Given the description of an element on the screen output the (x, y) to click on. 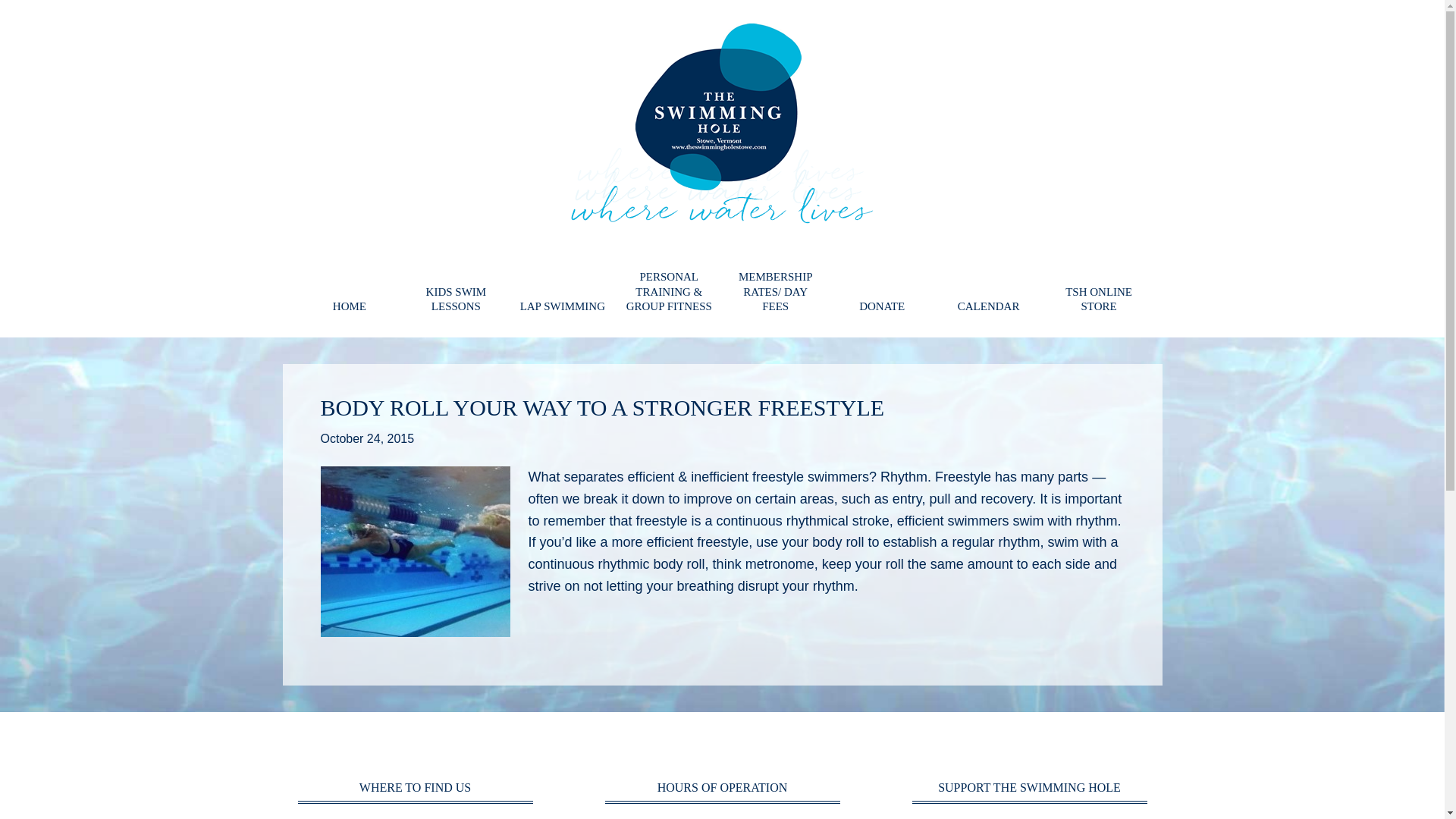
HOME (349, 310)
KIDS SWIM LESSONS (455, 303)
TSH ONLINE STORE (1095, 303)
DONATE (881, 310)
BODY ROLL YOUR WAY TO A STRONGER FREESTYLE (601, 406)
The Swimming Hole (722, 123)
CALENDAR (989, 310)
LAP SWIMMING (562, 310)
